Given the description of an element on the screen output the (x, y) to click on. 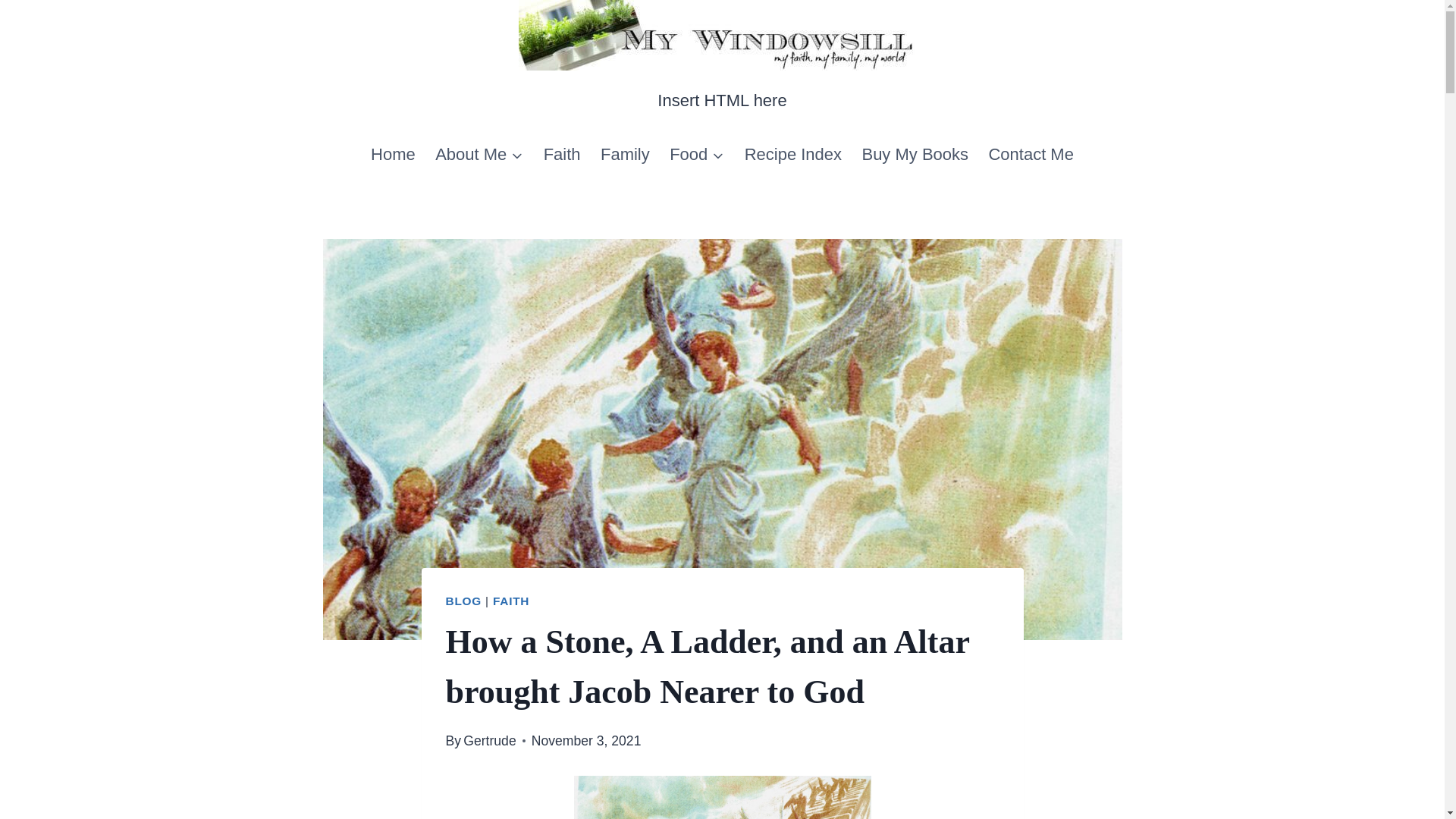
Recipe Index (792, 154)
Contact Me (1030, 154)
About Me (479, 154)
Buy My Books (914, 154)
Food (697, 154)
BLOG (463, 600)
Family (625, 154)
FAITH (511, 600)
Home (393, 154)
Gertrude (489, 740)
Faith (560, 154)
